Given the description of an element on the screen output the (x, y) to click on. 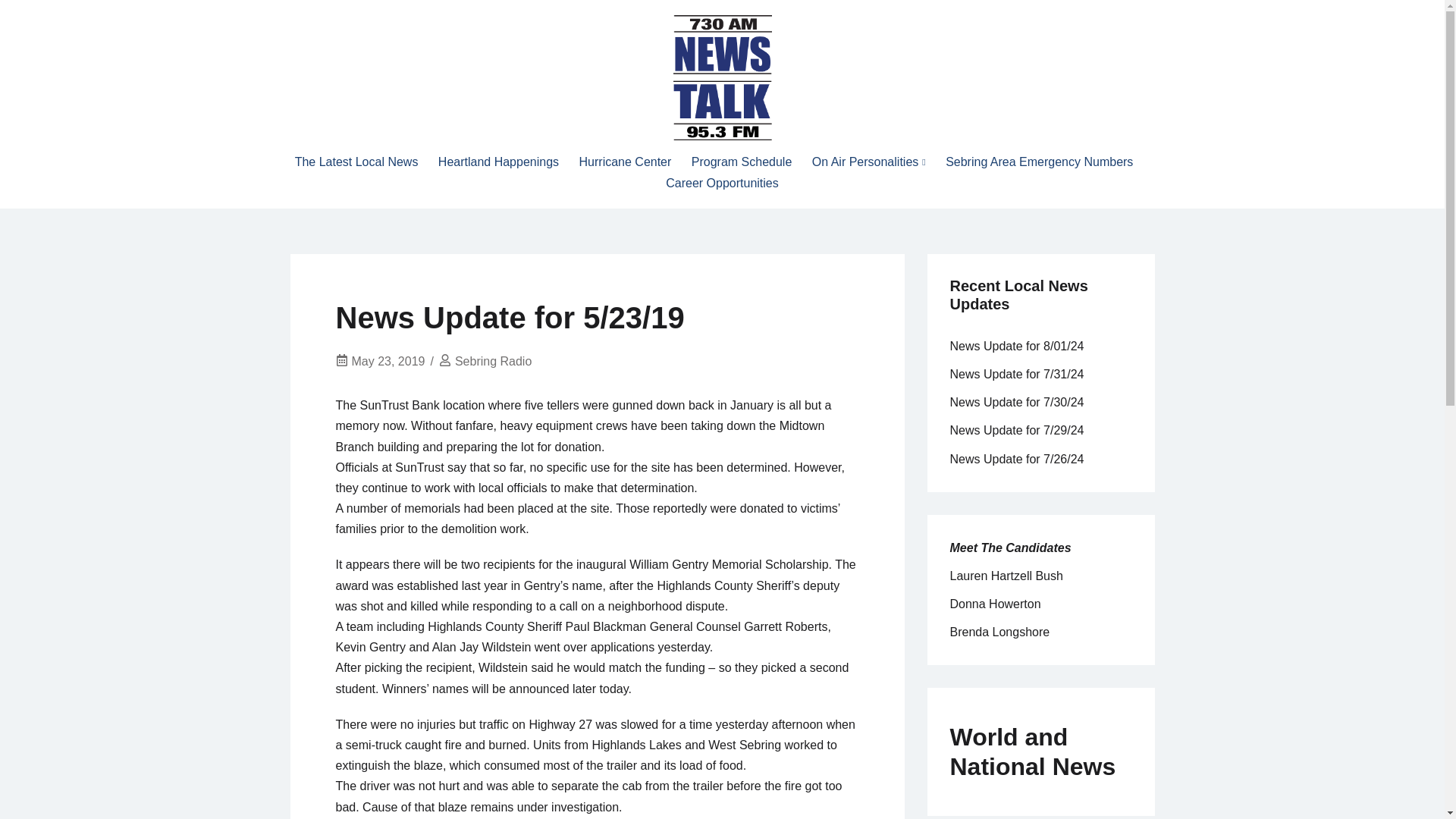
Program Schedule (741, 161)
Lauren Hartzell Bush (1005, 575)
The Latest Local News (357, 161)
May 23, 2019 (388, 360)
Heartland Happenings (498, 161)
Brenda Longshore (999, 631)
Hurricane Center (625, 161)
Sebring Radio (492, 360)
Donna Howerton (995, 603)
Sebring Area Emergency Numbers (1038, 161)
On Air Personalities (869, 161)
Career Opportunities (721, 182)
